Given the description of an element on the screen output the (x, y) to click on. 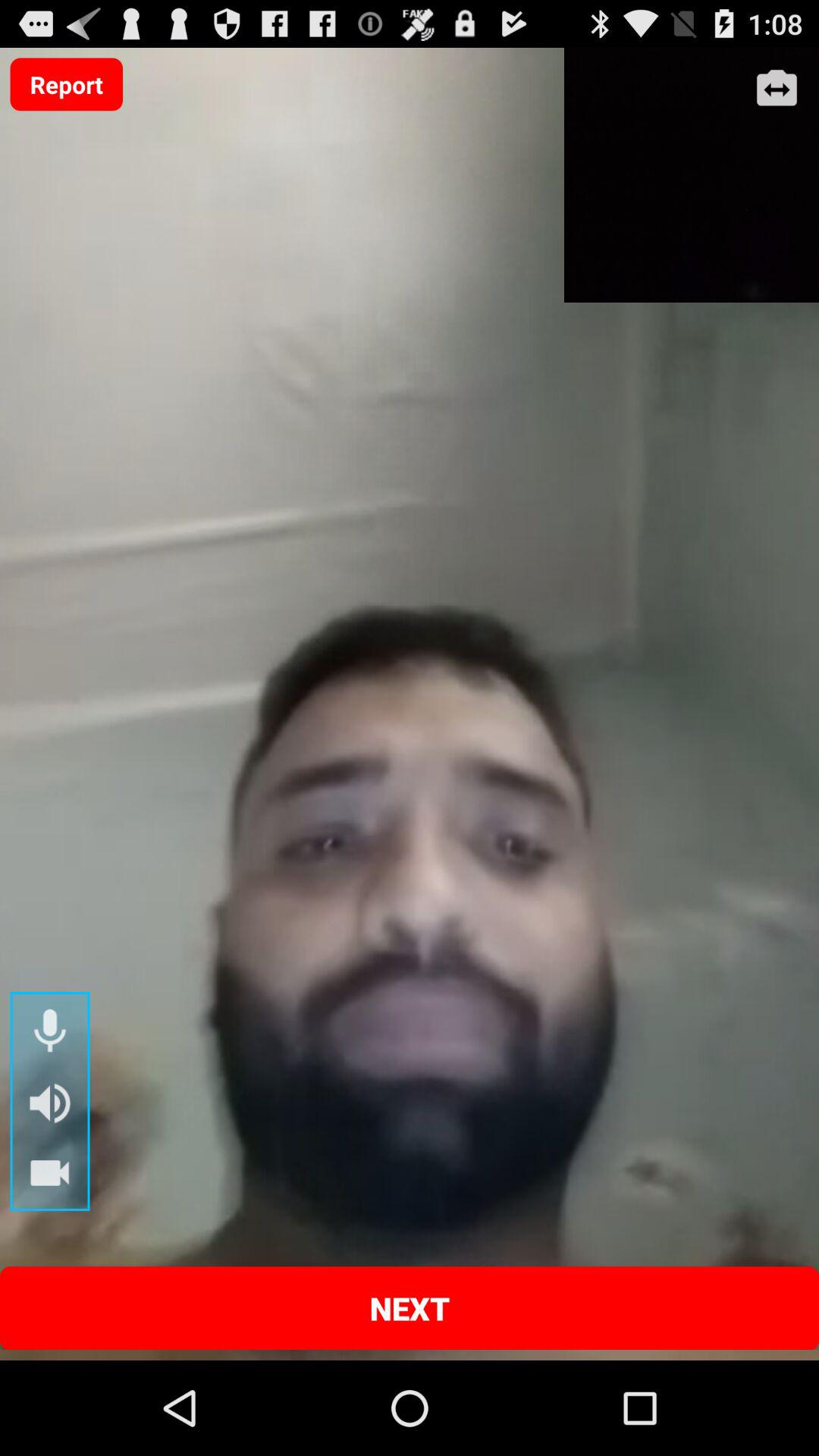
go to previous (776, 89)
